Given the description of an element on the screen output the (x, y) to click on. 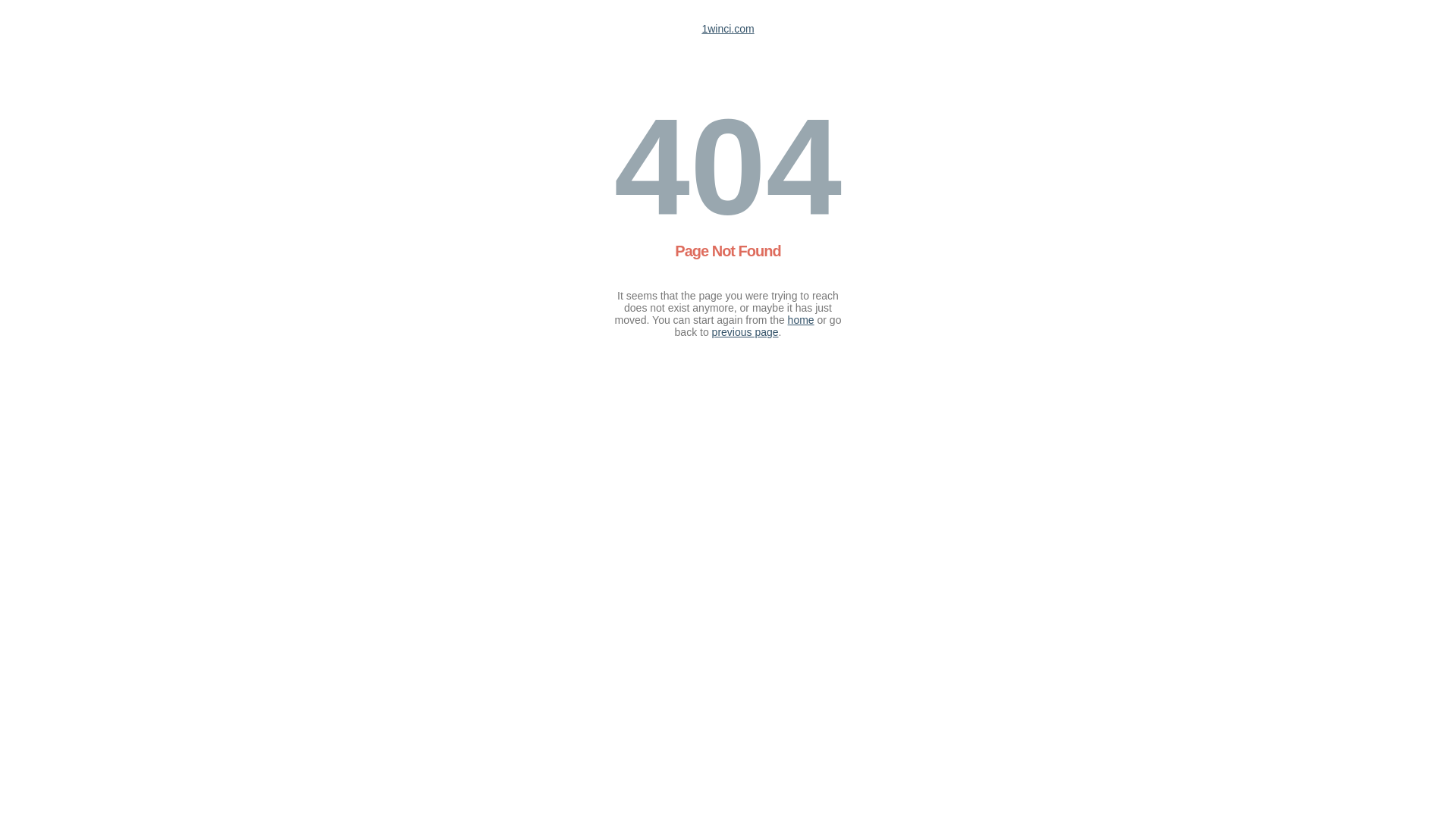
previous page Element type: text (745, 332)
home Element type: text (800, 319)
1winci.com Element type: text (727, 28)
